Given the description of an element on the screen output the (x, y) to click on. 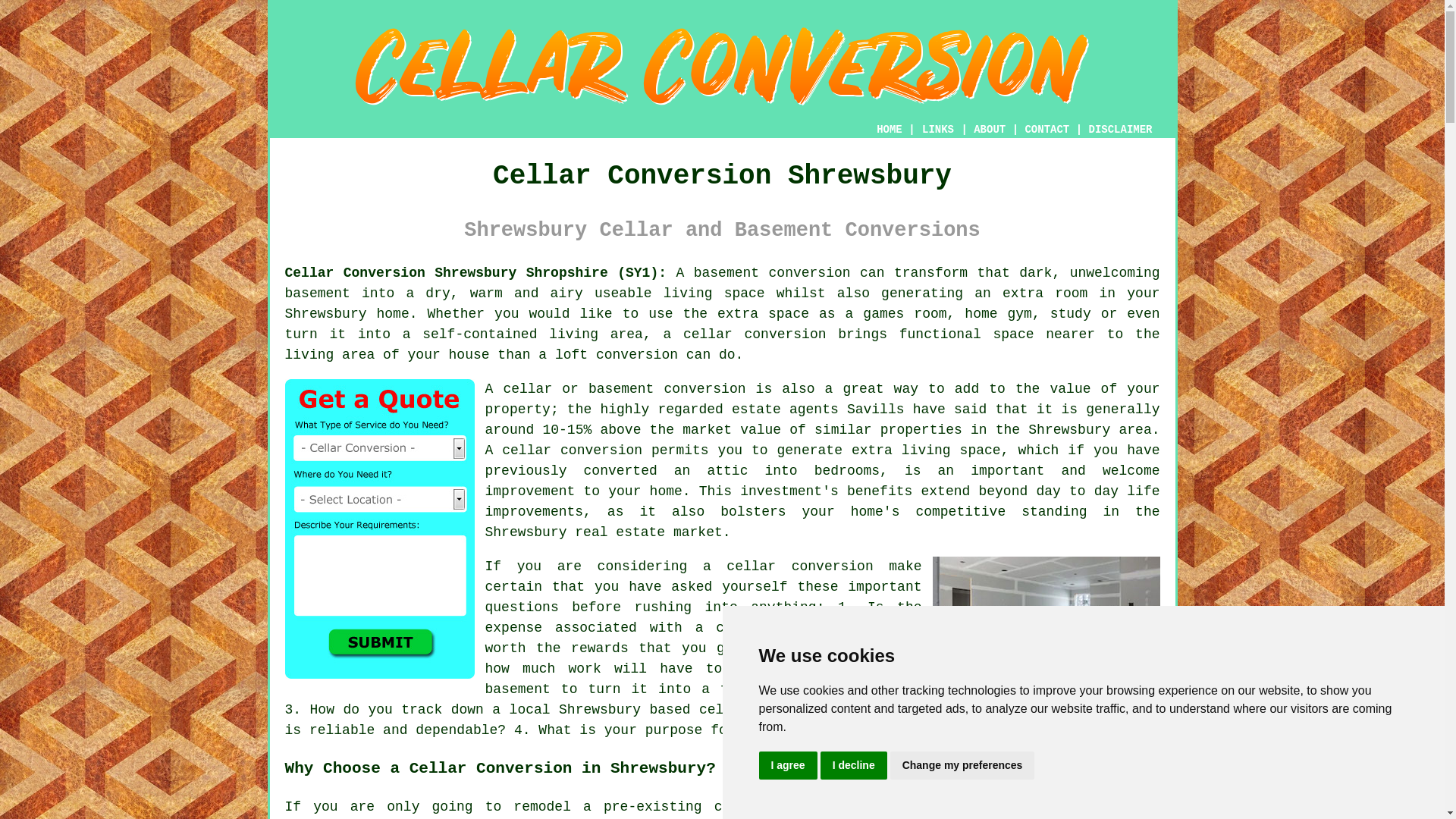
I decline (853, 765)
LINKS (938, 129)
HOME (889, 129)
Change my preferences (962, 765)
cellar conversion (572, 450)
I agree (787, 765)
cellar (738, 806)
Cellar Conversion Shrewsbury (722, 66)
